Given the description of an element on the screen output the (x, y) to click on. 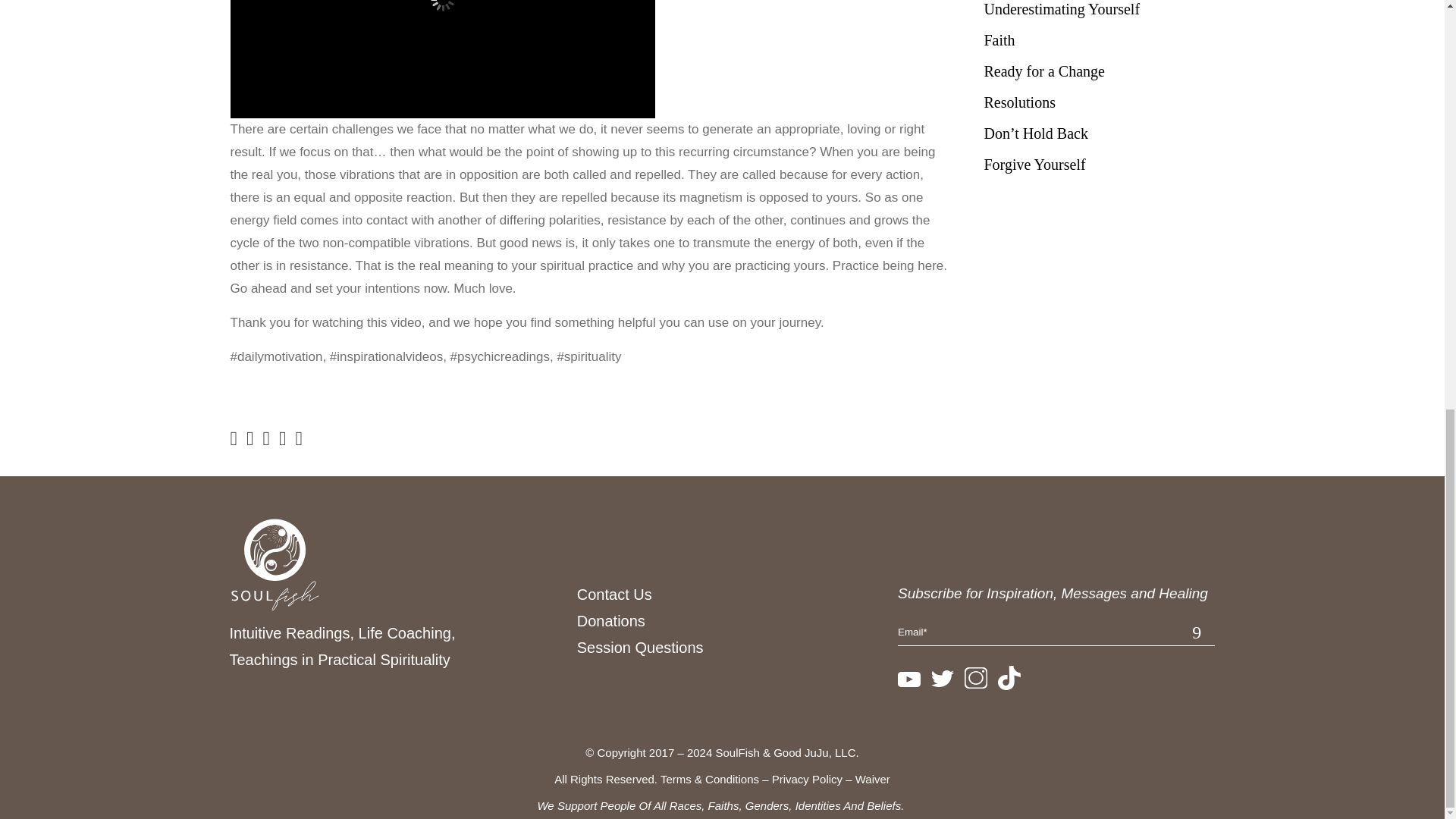
Join (1203, 628)
Underestimating Yourself (1099, 9)
Forgive Yourself (1099, 164)
Contact Us (614, 594)
Faith (1099, 40)
Ready for a Change (1099, 71)
Resolutions (1099, 102)
